Given the description of an element on the screen output the (x, y) to click on. 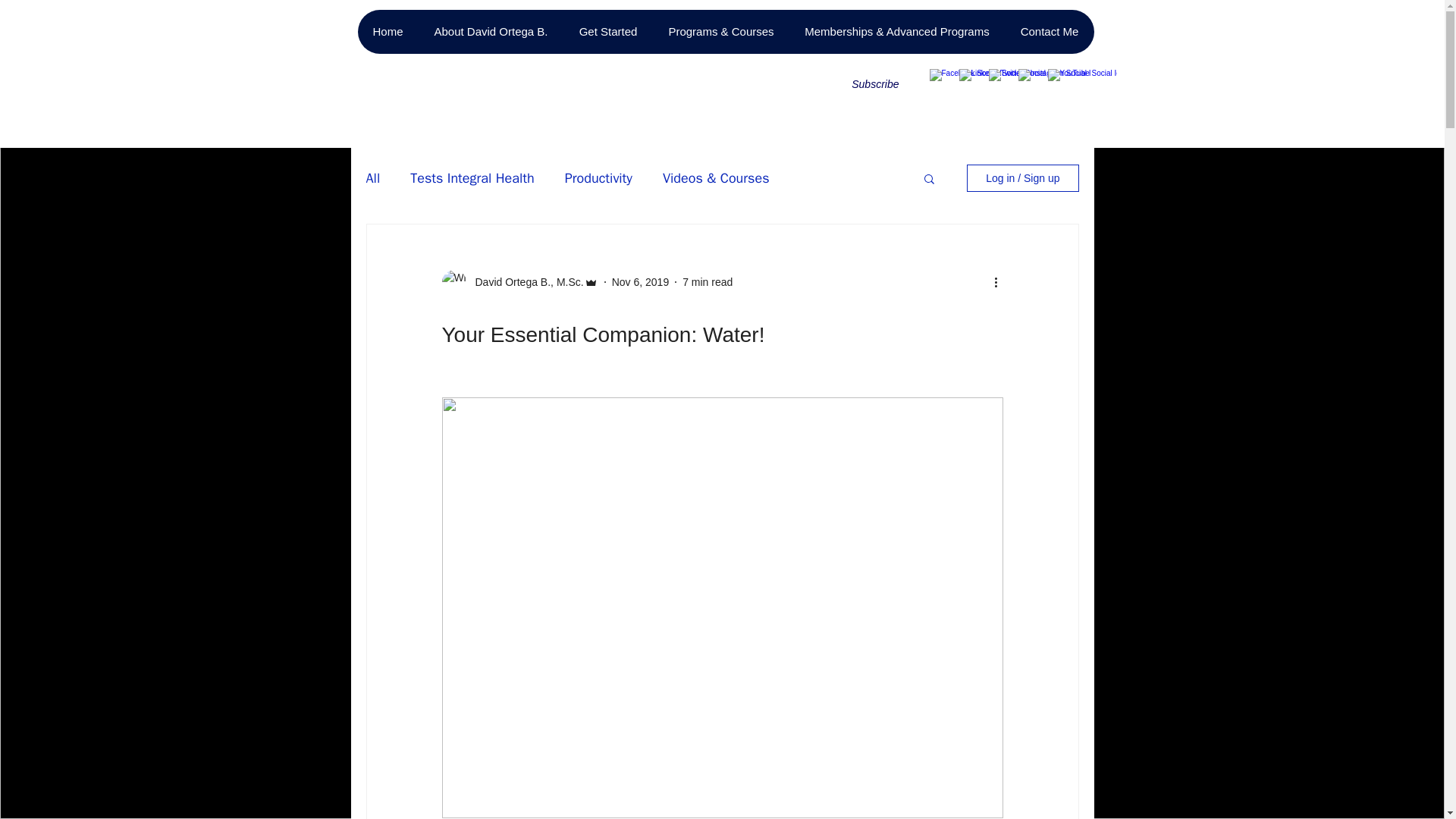
Tests Integral Health (472, 177)
Contact Me (1048, 31)
7 min read (707, 282)
Get Started (607, 31)
Subscribe (859, 84)
Home (388, 31)
Productivity (597, 177)
Nov 6, 2019 (640, 282)
David Ortega B., M.Sc. (518, 282)
About David Ortega B. (491, 31)
